Given the description of an element on the screen output the (x, y) to click on. 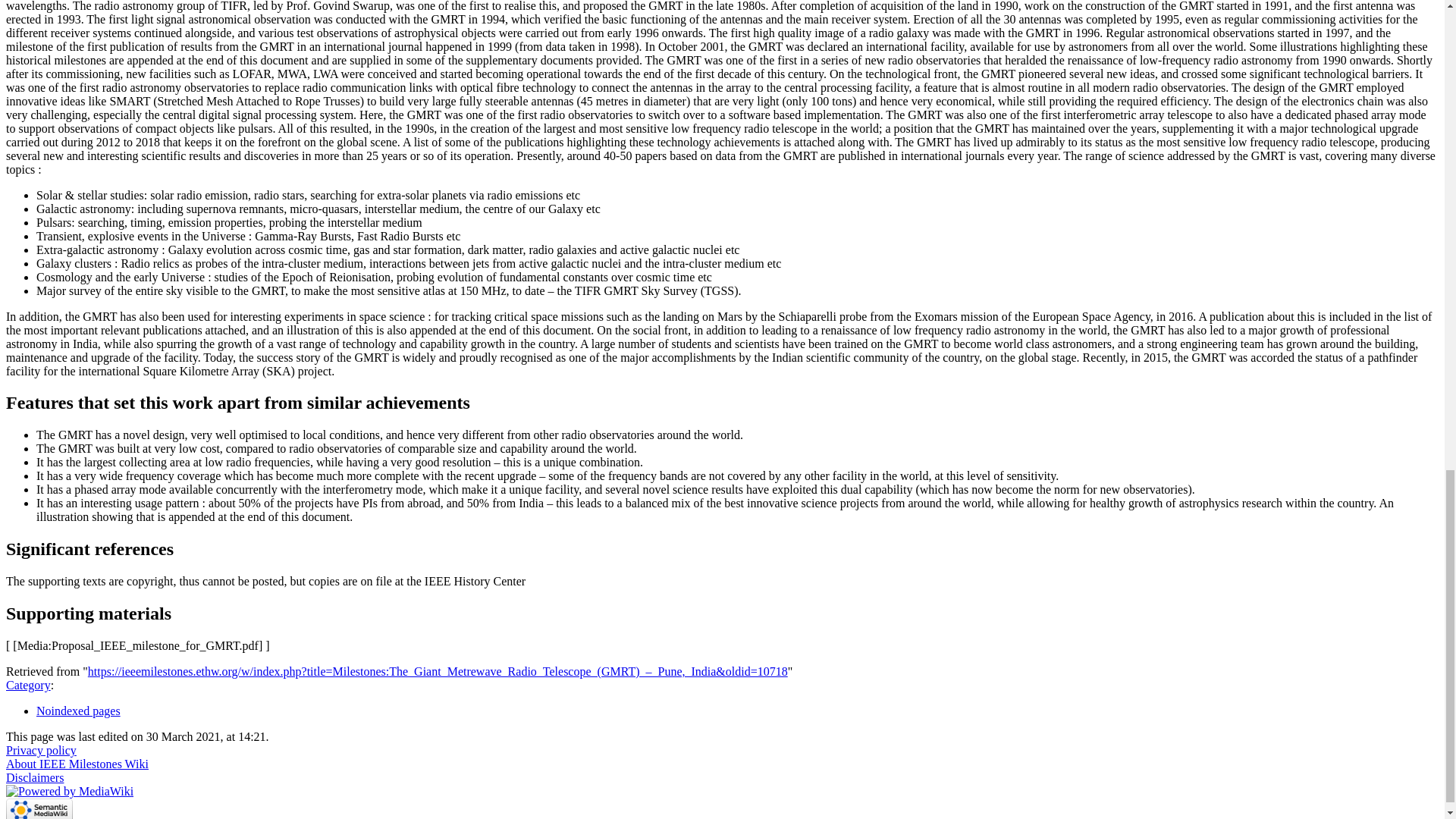
Special:Categories (27, 684)
